Given the description of an element on the screen output the (x, y) to click on. 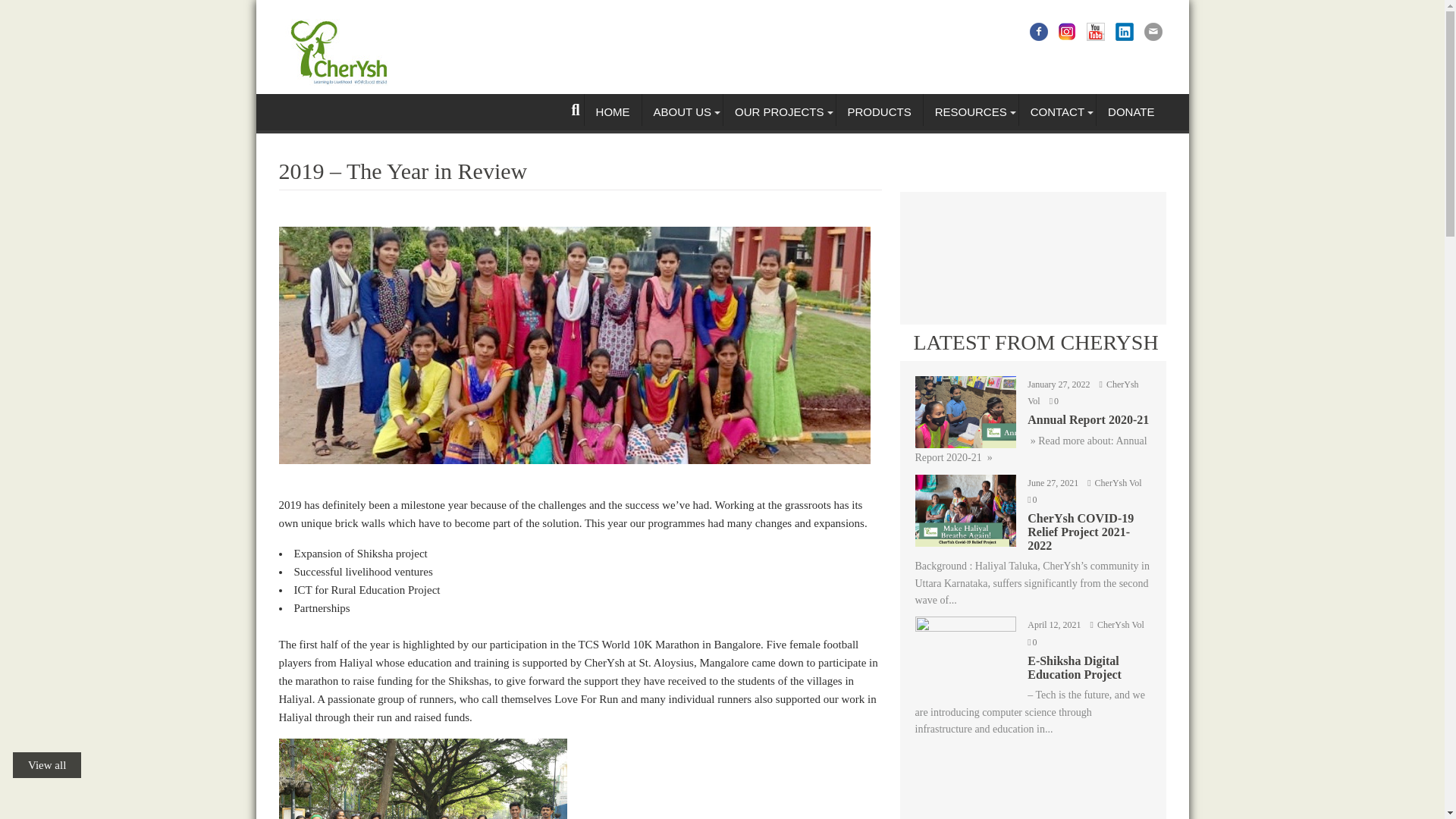
January 27, 2022 (1059, 384)
CONTACT (1057, 112)
CherYsh Vol (1082, 392)
DONATE (1131, 112)
Annual Report 2020-21 (1032, 429)
PRODUCTS (878, 112)
CherYsh Vol (1114, 482)
OUR PROJECTS (779, 112)
CherYsh Vol (1082, 392)
ABOUT US (682, 112)
CherYsh Vol (1117, 624)
RESOURCES (970, 112)
HOME (613, 112)
